Given the description of an element on the screen output the (x, y) to click on. 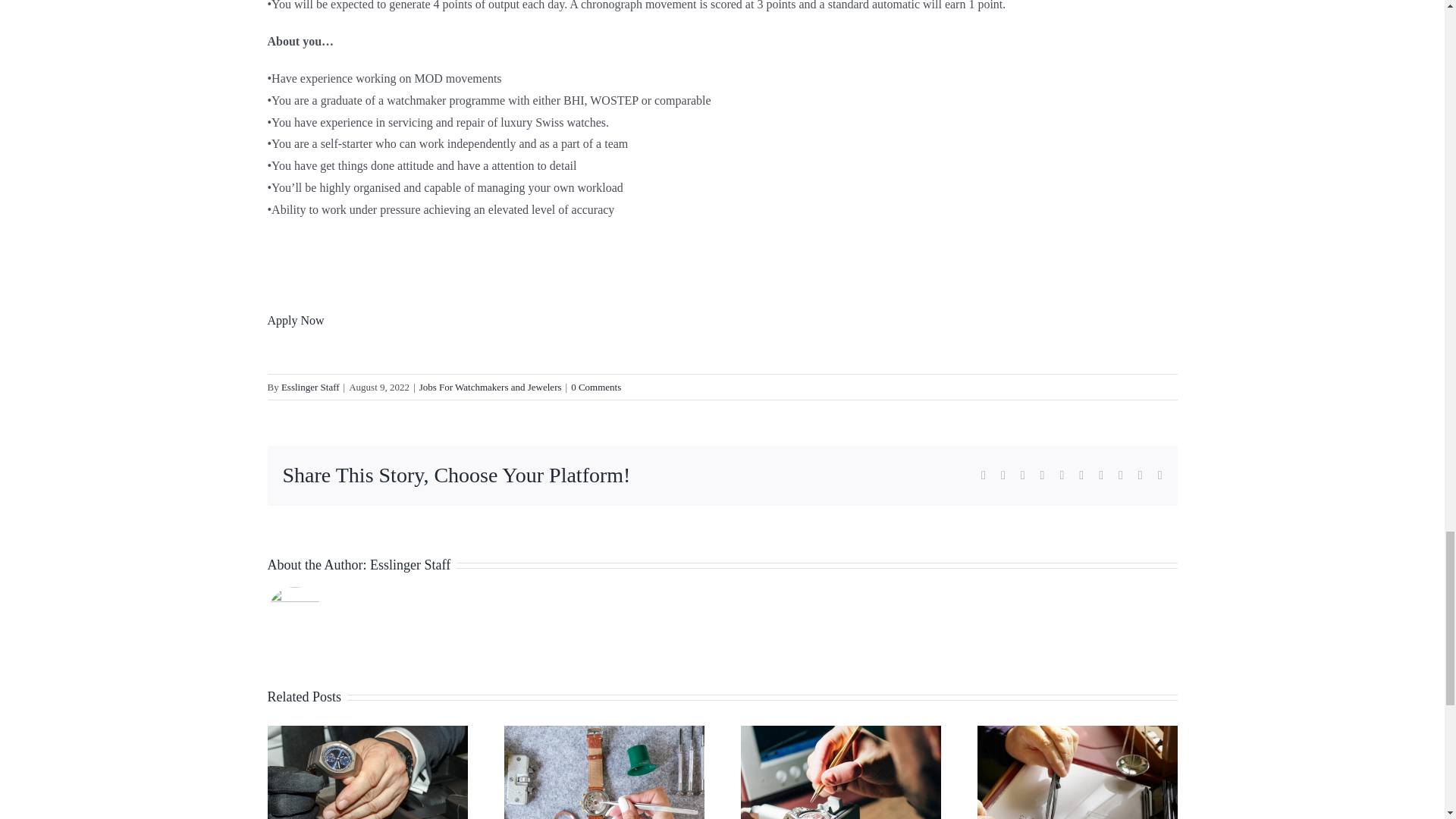
Posts by Esslinger Staff (310, 387)
Posts by Esslinger Staff (409, 564)
